Given the description of an element on the screen output the (x, y) to click on. 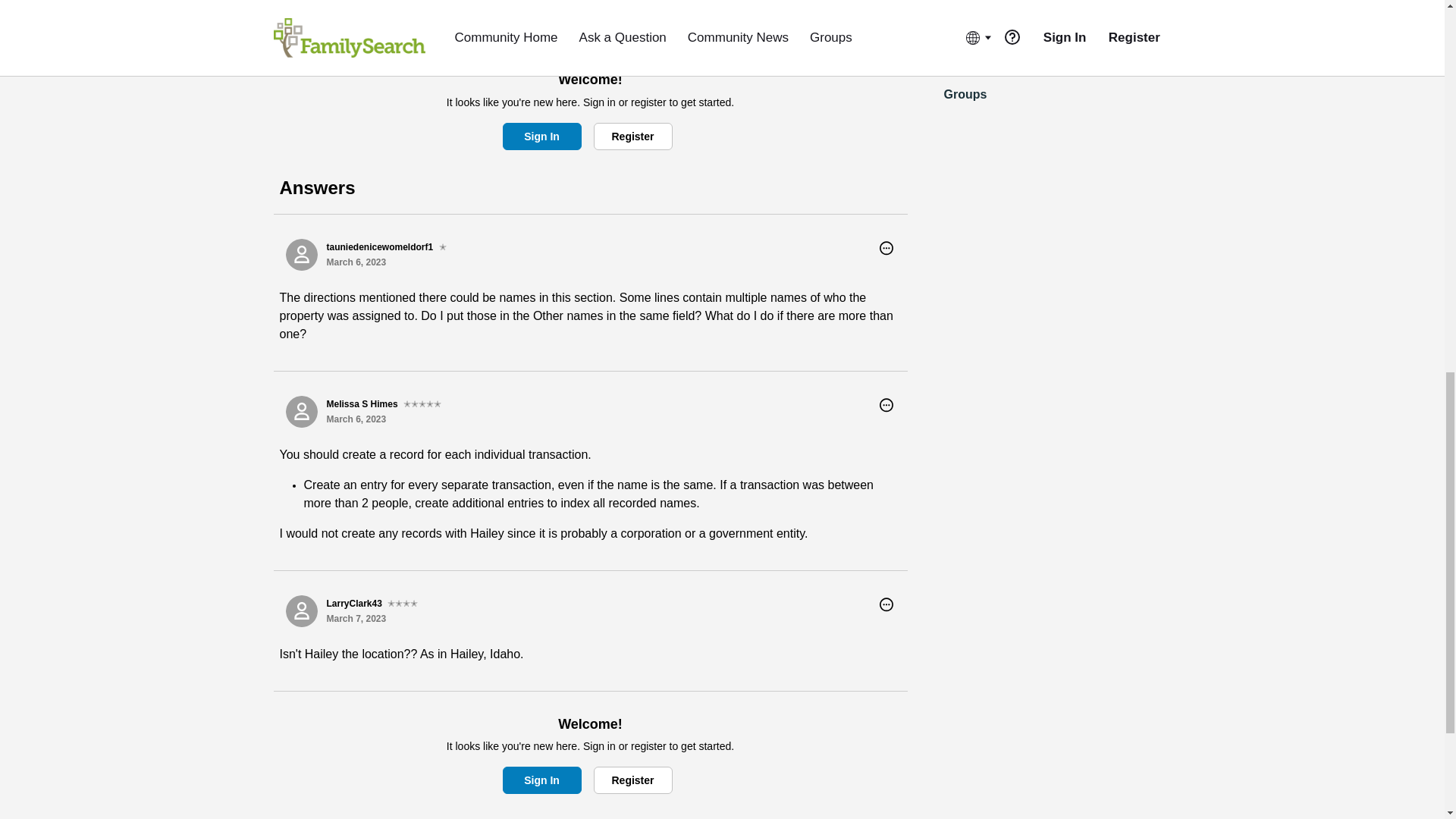
Level 5 (422, 404)
Level 1 (442, 246)
Register (631, 135)
LarryClark43 (301, 611)
Melissa S Himes (301, 411)
March 6, 2023 4:43AM (355, 419)
Sign In (541, 135)
tauniedenicewomeldorf1 (301, 255)
March 7, 2023 4:07AM (355, 618)
March 6, 2023 3:35AM (355, 262)
Level 4 (402, 603)
